Given the description of an element on the screen output the (x, y) to click on. 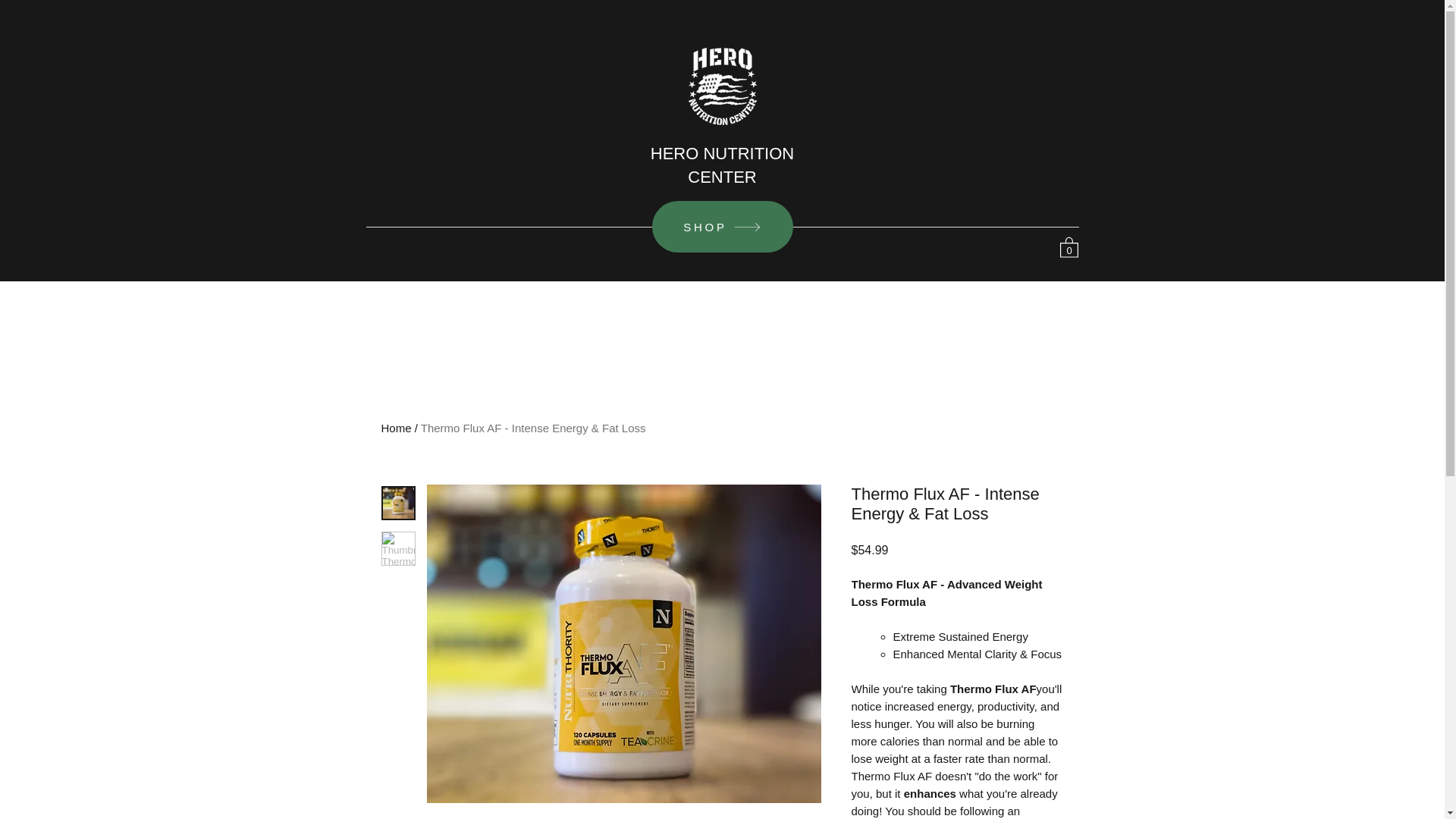
Home (395, 427)
SHOP (722, 226)
HERO NUTRITION CENTER (721, 165)
